Given the description of an element on the screen output the (x, y) to click on. 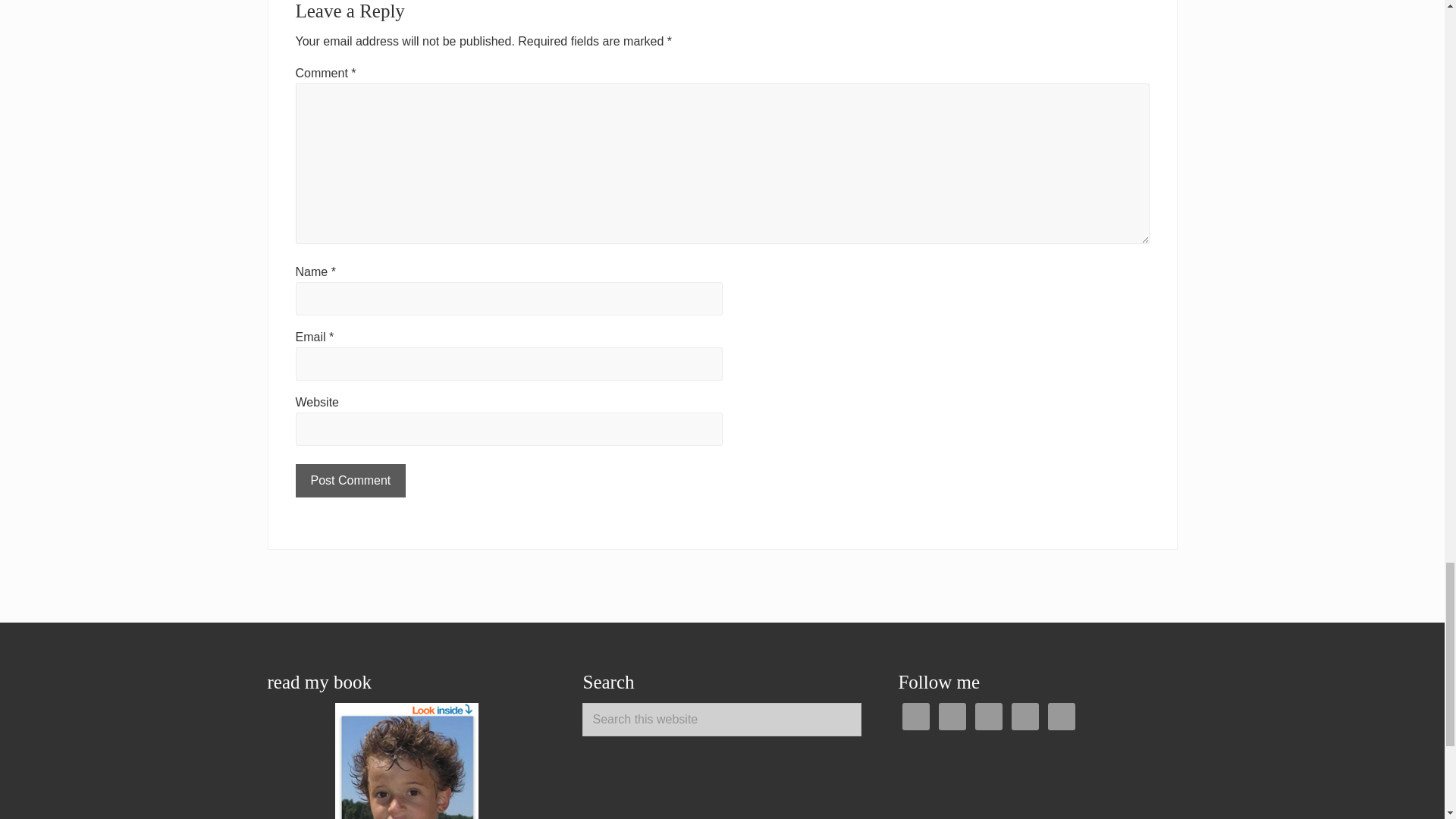
Post Comment (350, 480)
